Given the description of an element on the screen output the (x, y) to click on. 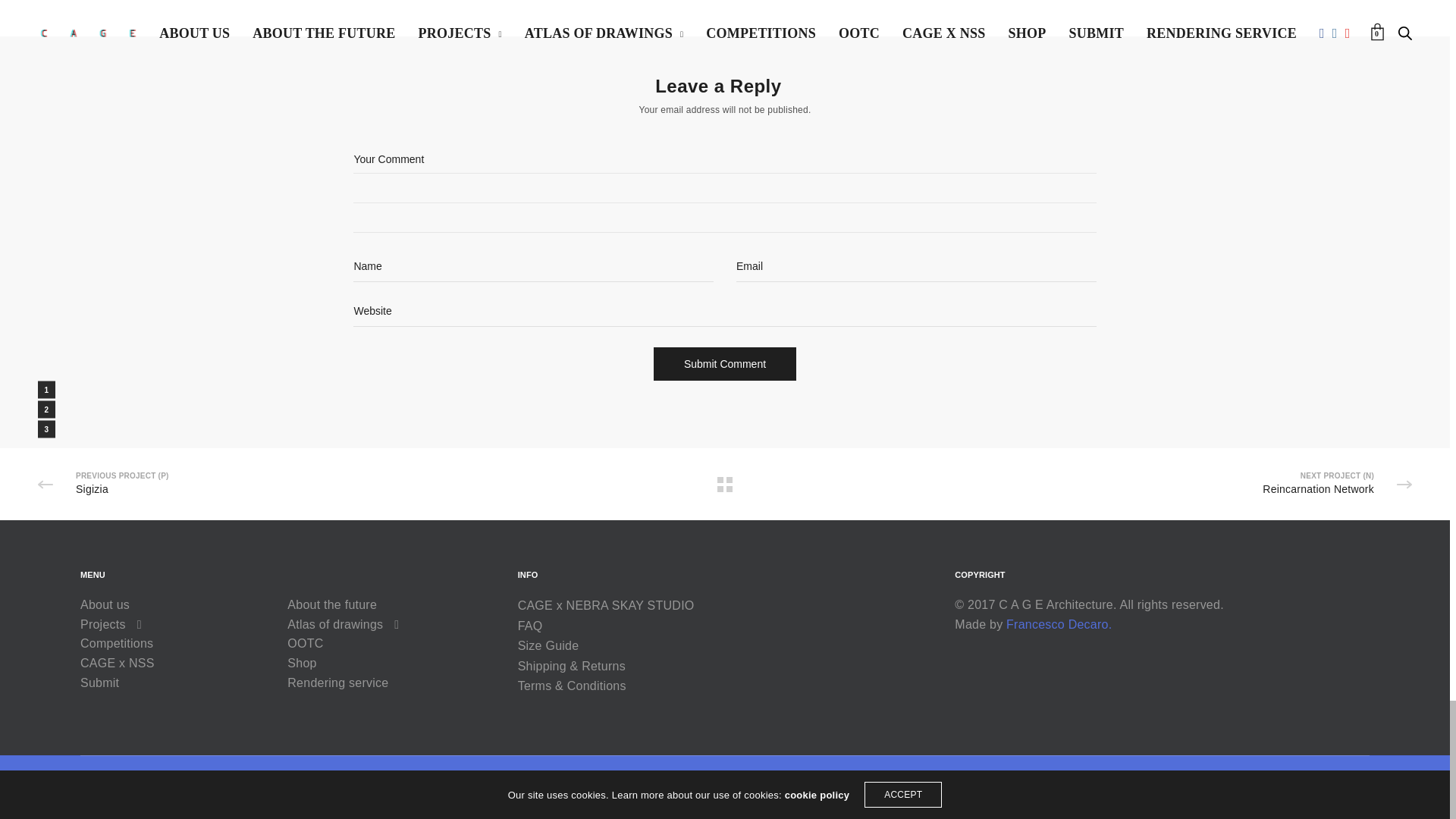
Submit Comment (724, 363)
